Given the description of an element on the screen output the (x, y) to click on. 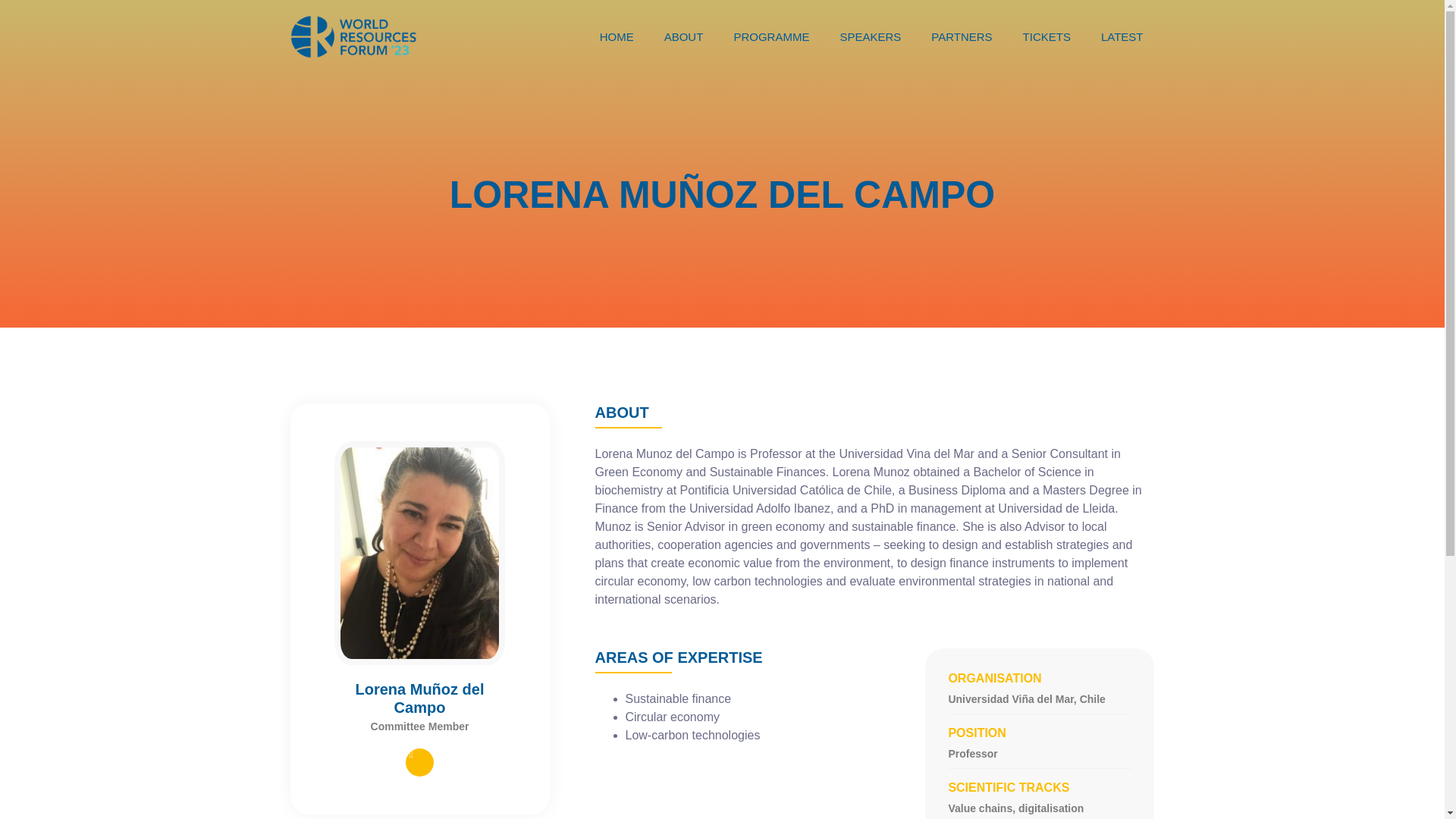
LATEST (1121, 37)
ABOUT (683, 37)
PARTNERS (961, 37)
HOME (616, 37)
TICKETS (1046, 37)
PROGRAMME (771, 37)
SPEAKERS (870, 37)
